Given the description of an element on the screen output the (x, y) to click on. 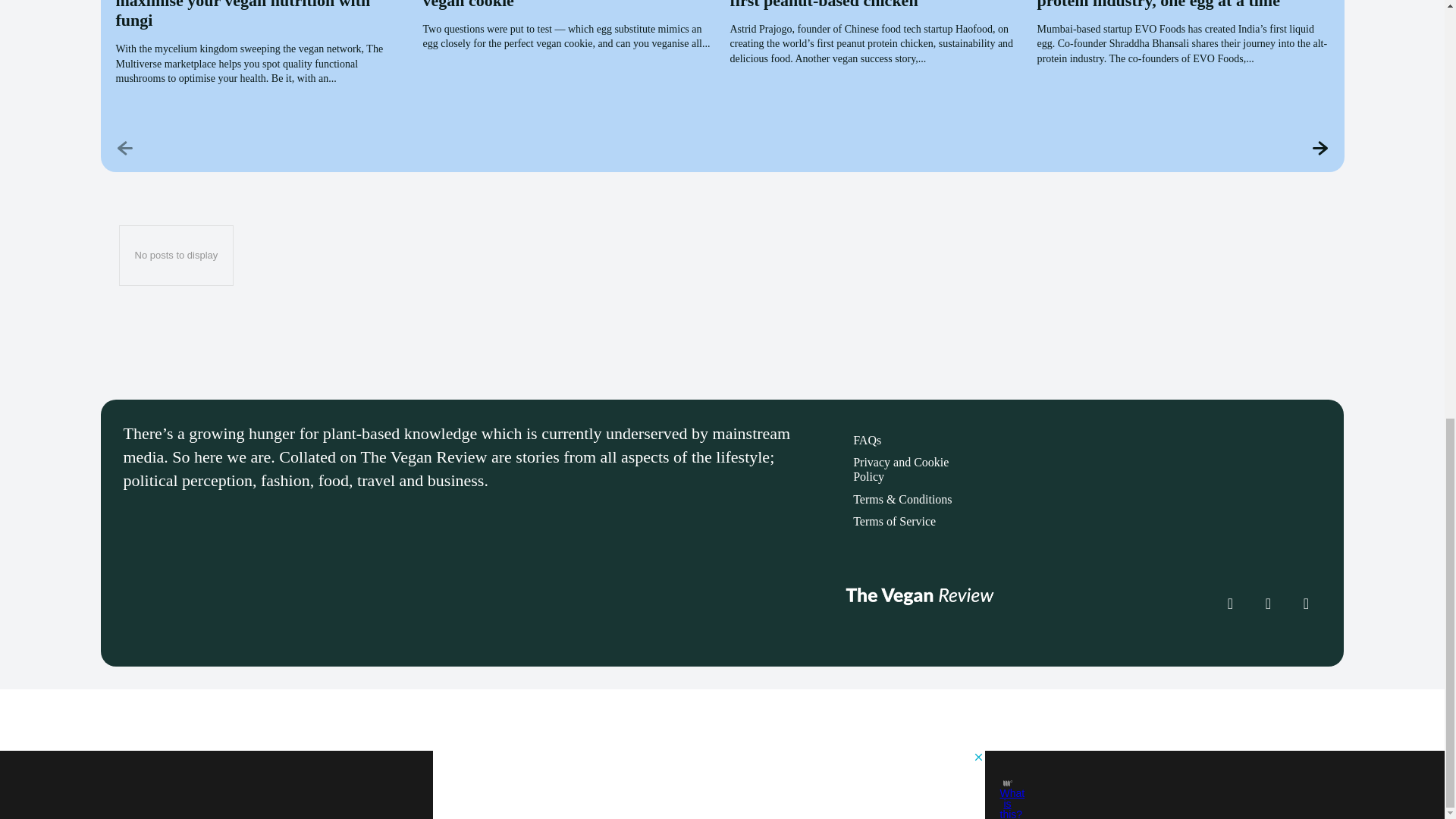
Testing 7 egg substitutes for the perfect vegan cookie (562, 4)
Testing 7 egg substitutes for the perfect vegan cookie (562, 4)
